Given the description of an element on the screen output the (x, y) to click on. 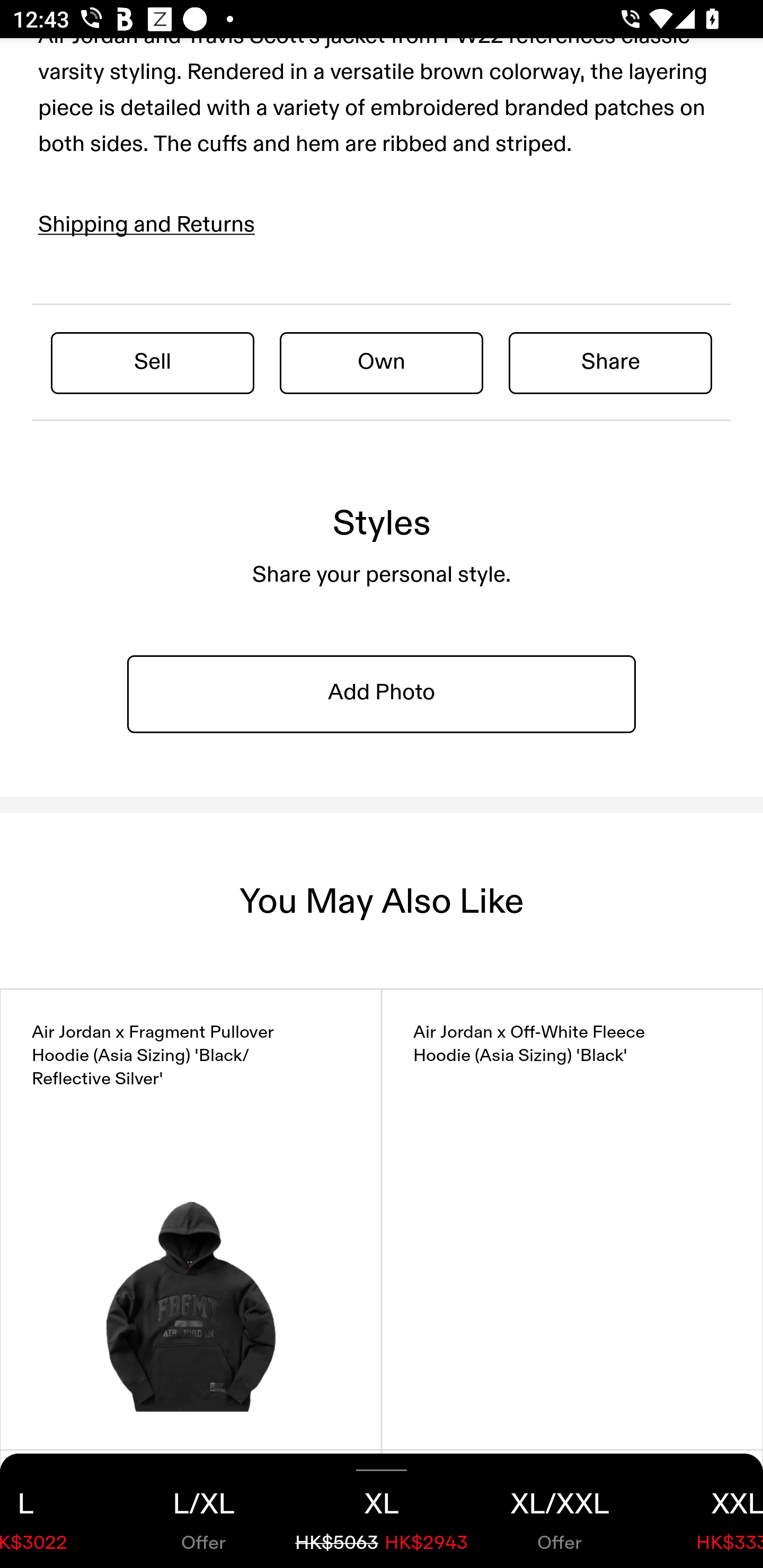
Shipping and Returns (146, 224)
Sell (152, 361)
Own (381, 361)
Share (609, 361)
Add Photo (381, 693)
L HK$3022 (57, 1510)
L/XL Offer (203, 1510)
XL HK$5063 HK$2943 (381, 1510)
XL/XXL Offer (559, 1510)
XXL HK$3339 (705, 1510)
